Given the description of an element on the screen output the (x, y) to click on. 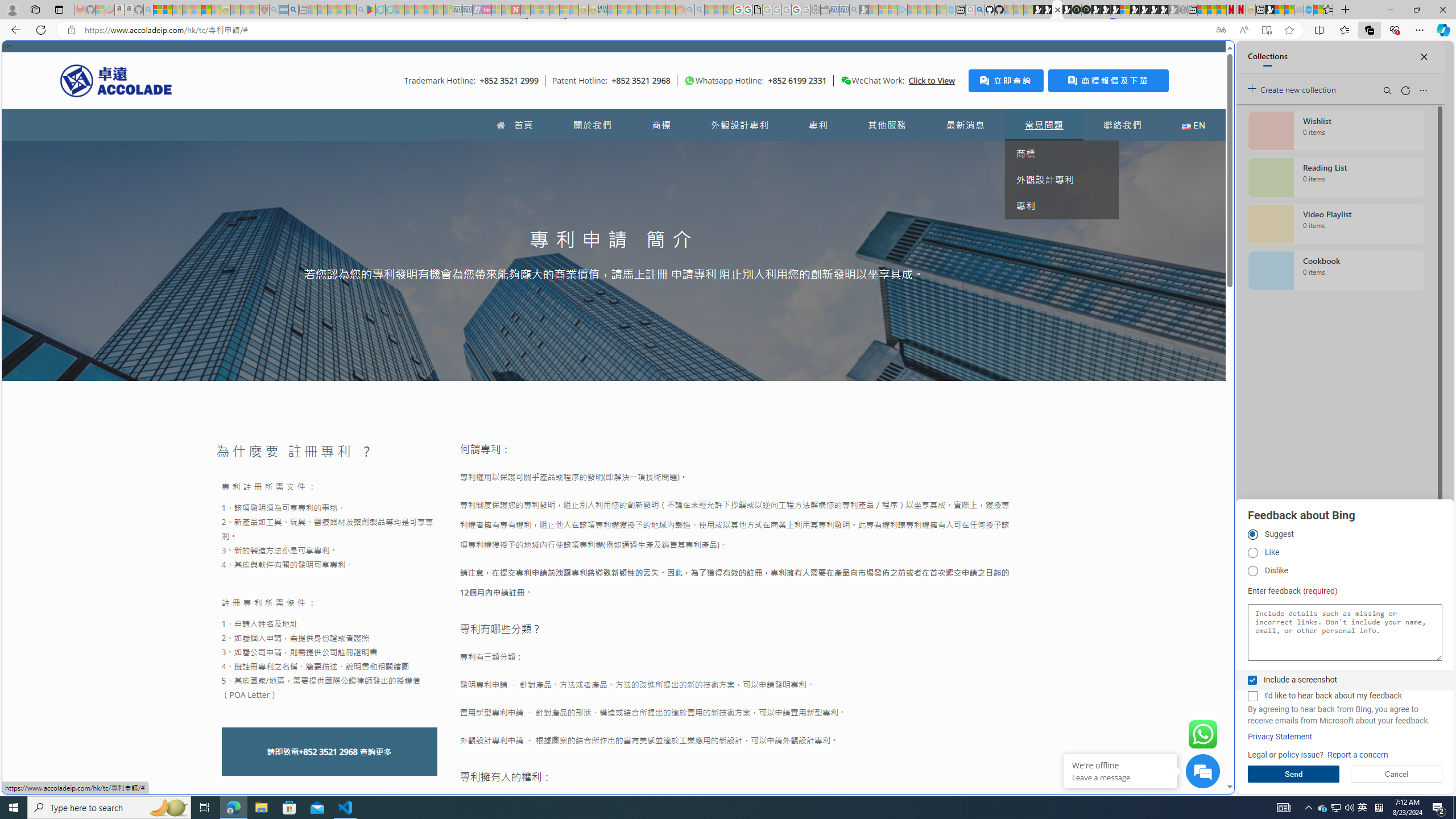
Home | Sky Blue Bikes - Sky Blue Bikes (1118, 242)
utah sues federal government - Search (922, 389)
Suggest (1252, 534)
Report a concern (1358, 755)
New Report Confirms 2023 Was Record Hot | Watch - Sleeping (196, 9)
